Given the description of an element on the screen output the (x, y) to click on. 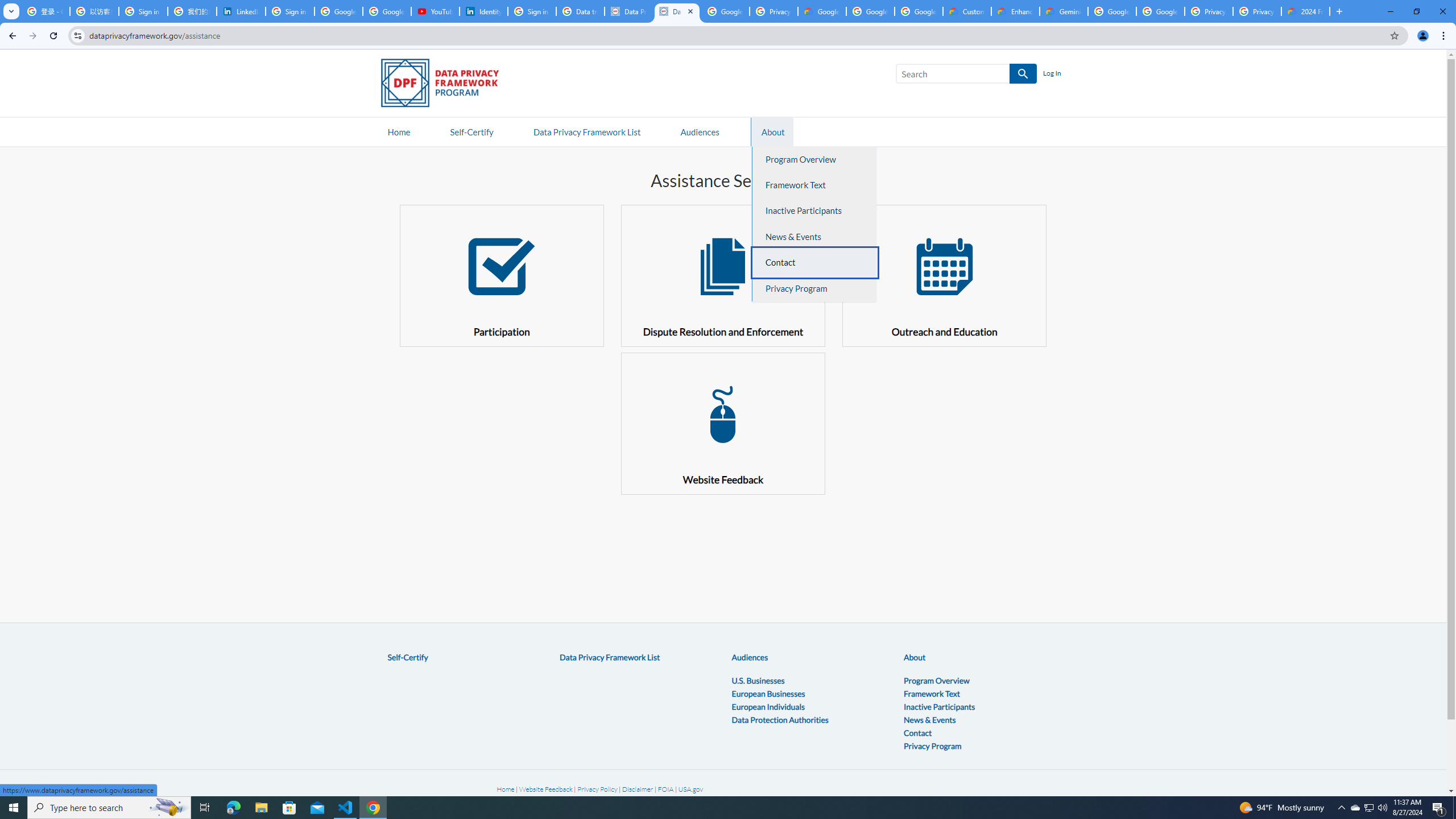
Sign in - Google Accounts (143, 11)
AutomationID: navitem (699, 131)
Google Cloud Platform (1112, 11)
Google Workspace - Specific Terms (870, 11)
Data Privacy Framework (628, 11)
AutomationID: navitem2 (771, 131)
Disclaimer (637, 788)
